Given the description of an element on the screen output the (x, y) to click on. 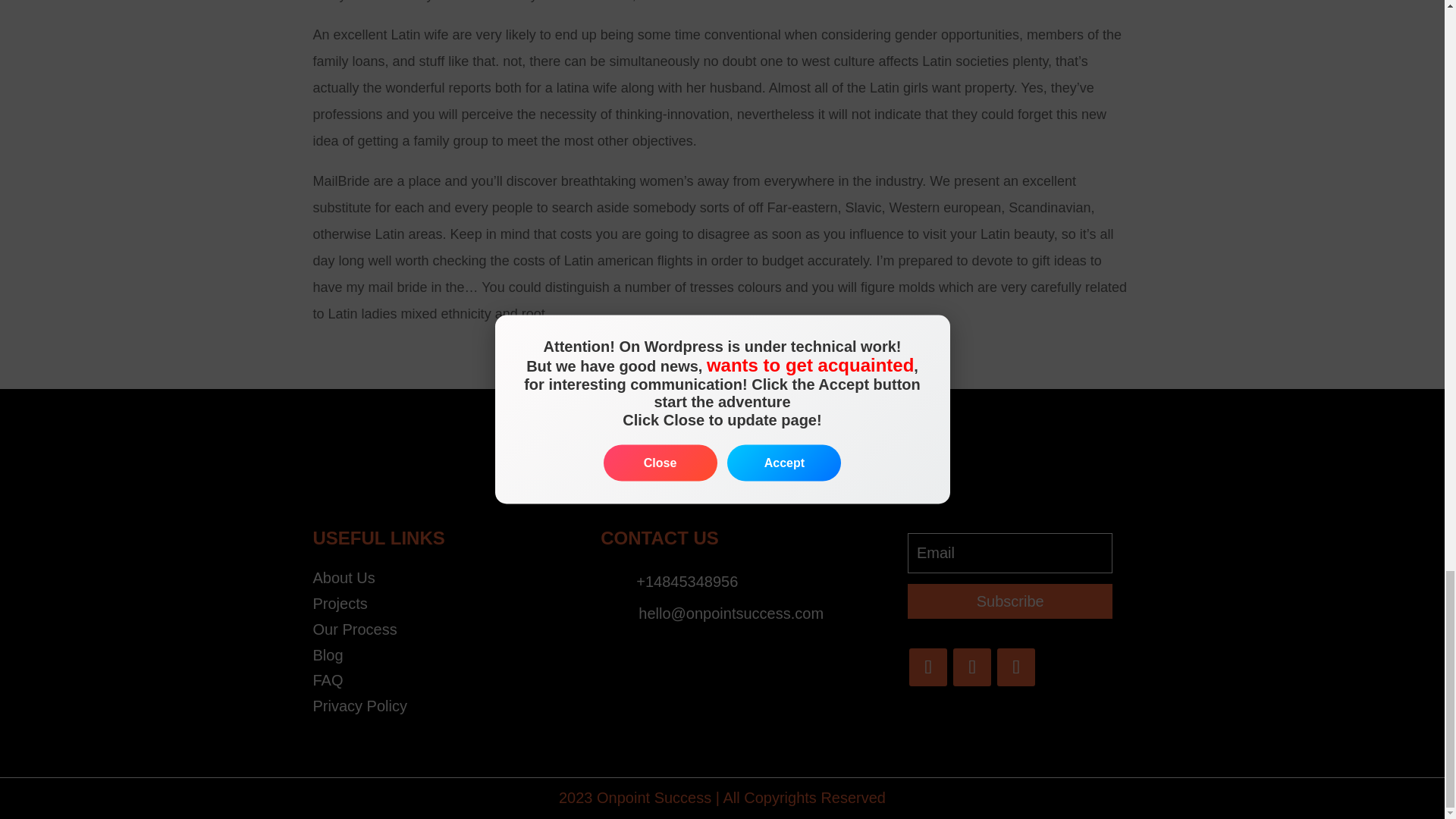
Follow on Facebook (927, 667)
Follow on Instagram (1016, 667)
Subscribe (1009, 601)
Follow on Twitter (972, 667)
